Given the description of an element on the screen output the (x, y) to click on. 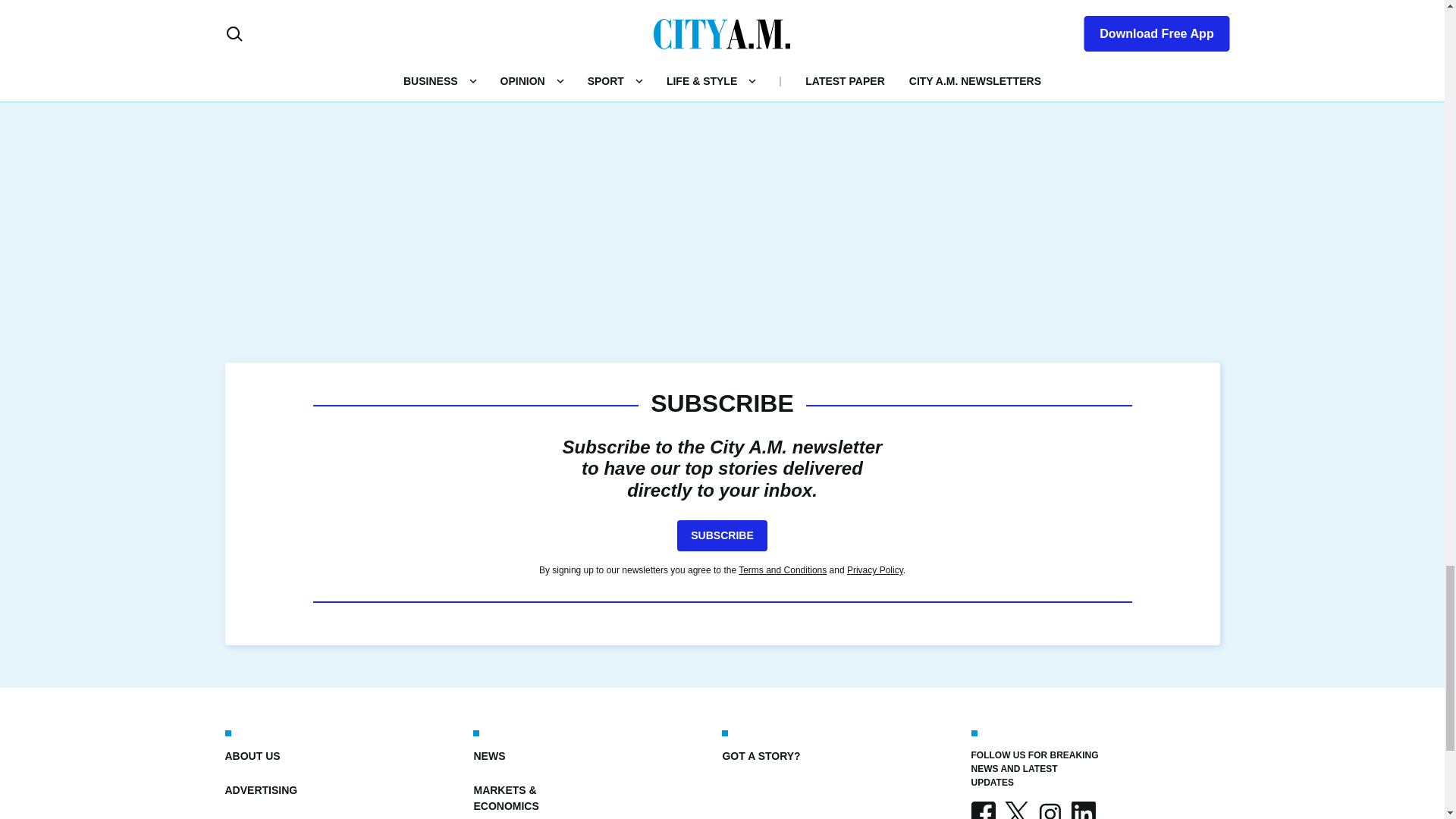
X (1015, 810)
LINKEDIN (1082, 810)
FACEBOOK (982, 810)
INSTAGRAM (1048, 810)
